Given the description of an element on the screen output the (x, y) to click on. 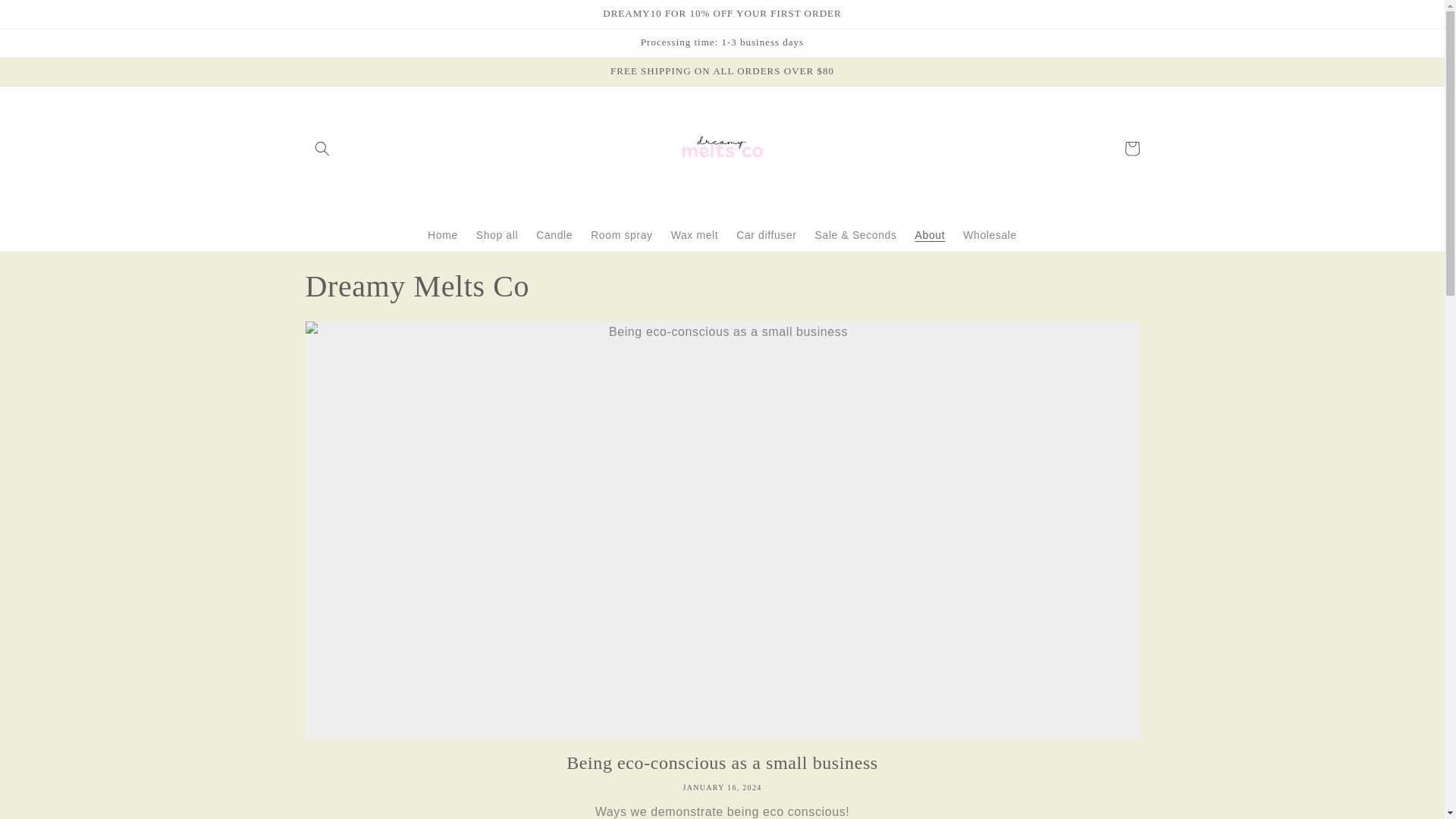
Candle (553, 234)
Car diffuser (765, 234)
About (930, 234)
Cart (1131, 148)
Being eco-conscious as a small business (721, 762)
Home (443, 234)
Wax melt (695, 234)
Wholesale (989, 234)
Skip to content (46, 18)
Shop all (497, 234)
Room spray (620, 234)
